Given the description of an element on the screen output the (x, y) to click on. 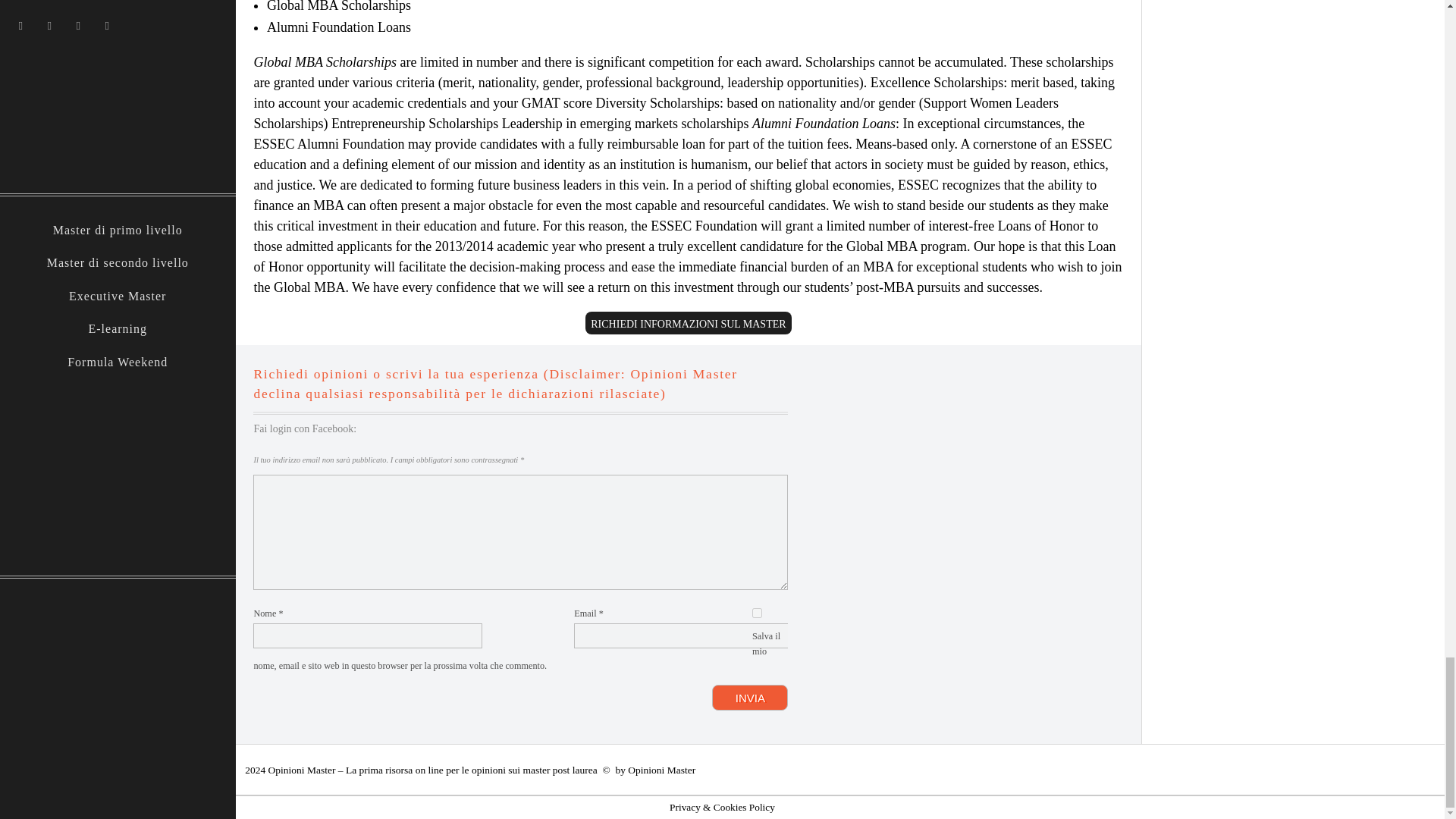
yes (756, 613)
Invia (749, 697)
